Given the description of an element on the screen output the (x, y) to click on. 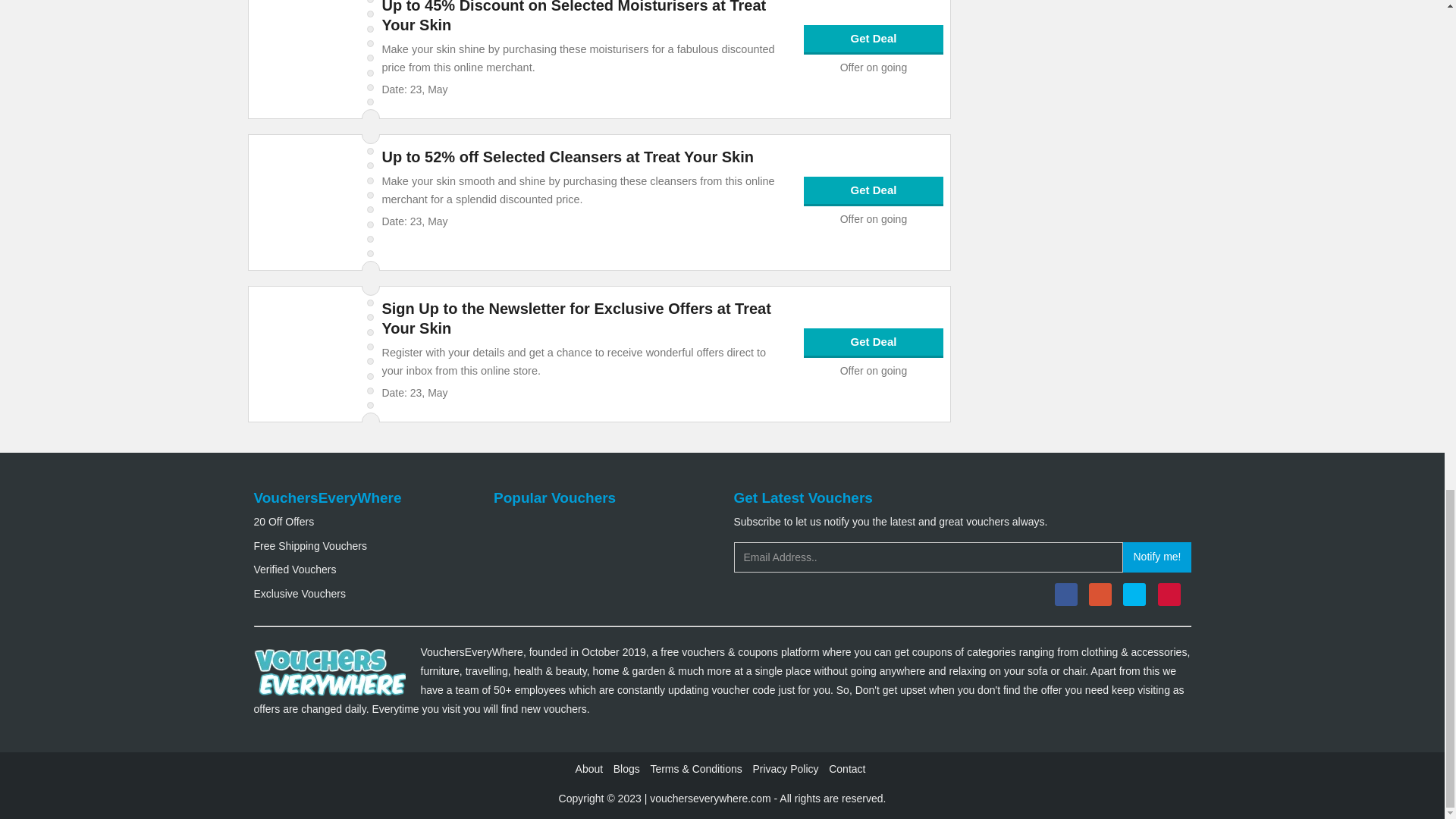
Get Deal (873, 39)
Get Deal (873, 190)
Get Deal (873, 342)
